Given the description of an element on the screen output the (x, y) to click on. 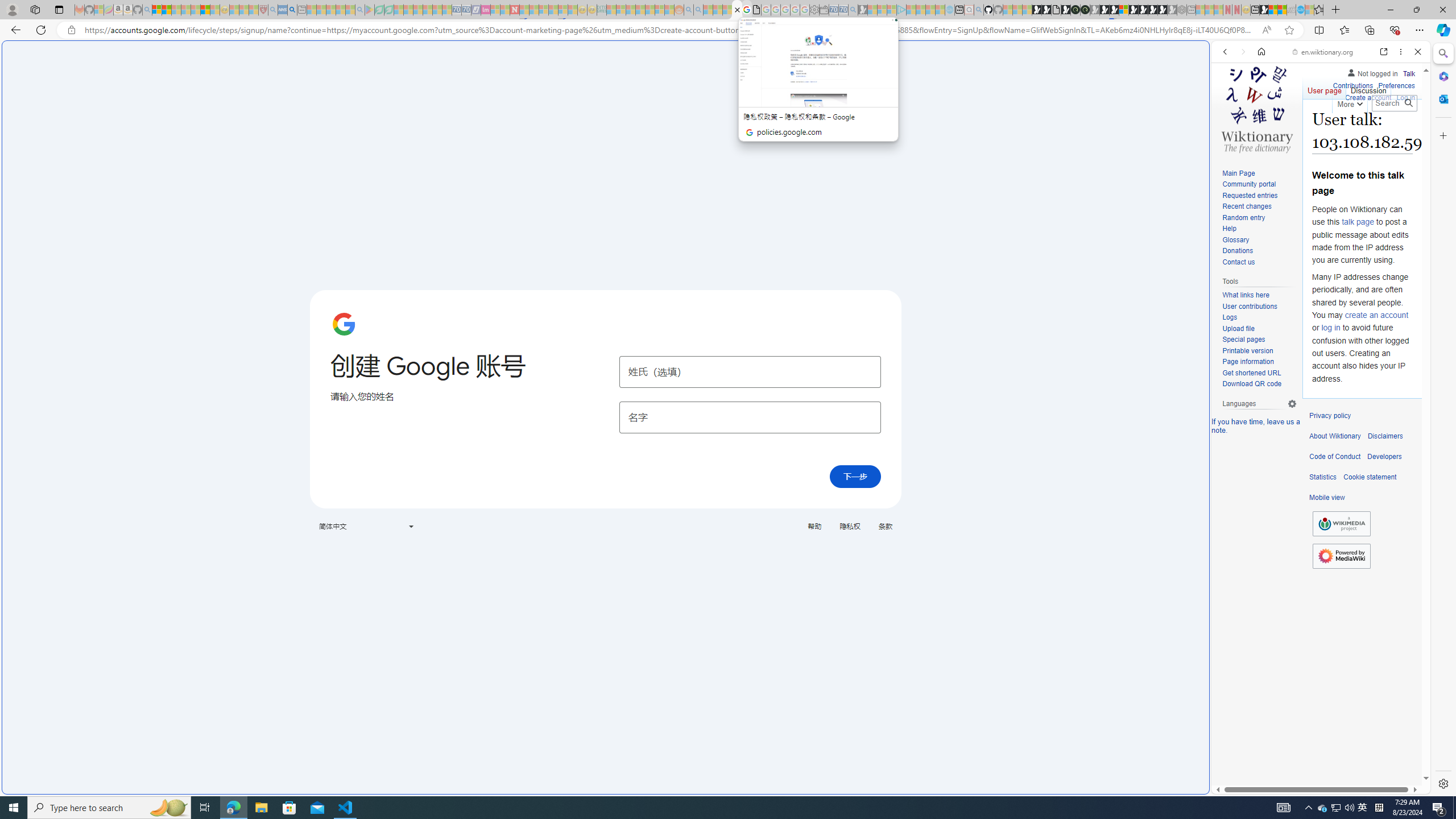
Earth has six continents not seven, radical new study claims (1281, 9)
Discussion (1367, 87)
Frequently visited (965, 151)
Sign in to your account (1123, 9)
utah sues federal government - Search (291, 9)
Recent changes (1259, 206)
